Given the description of an element on the screen output the (x, y) to click on. 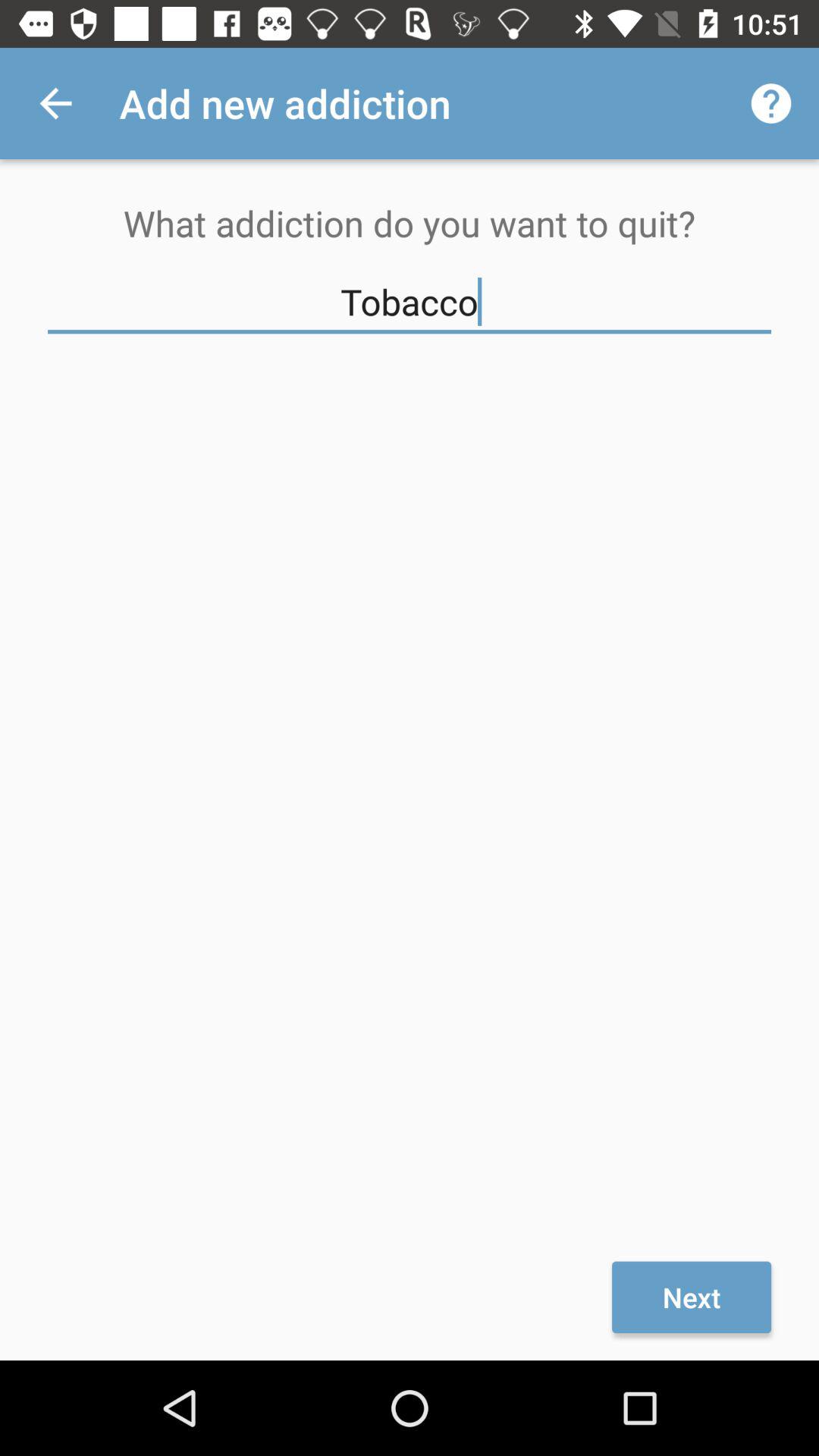
tap app next to the add new addiction (55, 103)
